Given the description of an element on the screen output the (x, y) to click on. 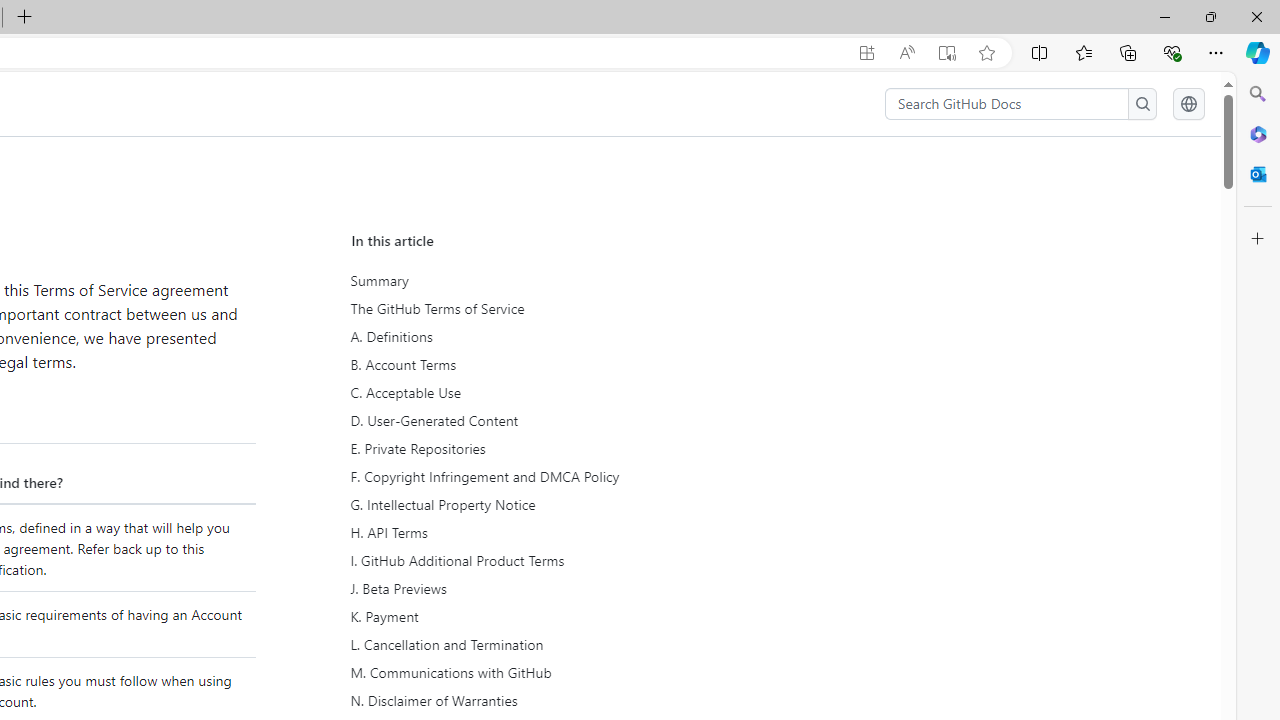
J. Beta Previews (535, 589)
E. Private Repositories (538, 448)
Select language: current language is English (1188, 103)
K. Payment (535, 616)
C. Acceptable Use (535, 392)
